Given the description of an element on the screen output the (x, y) to click on. 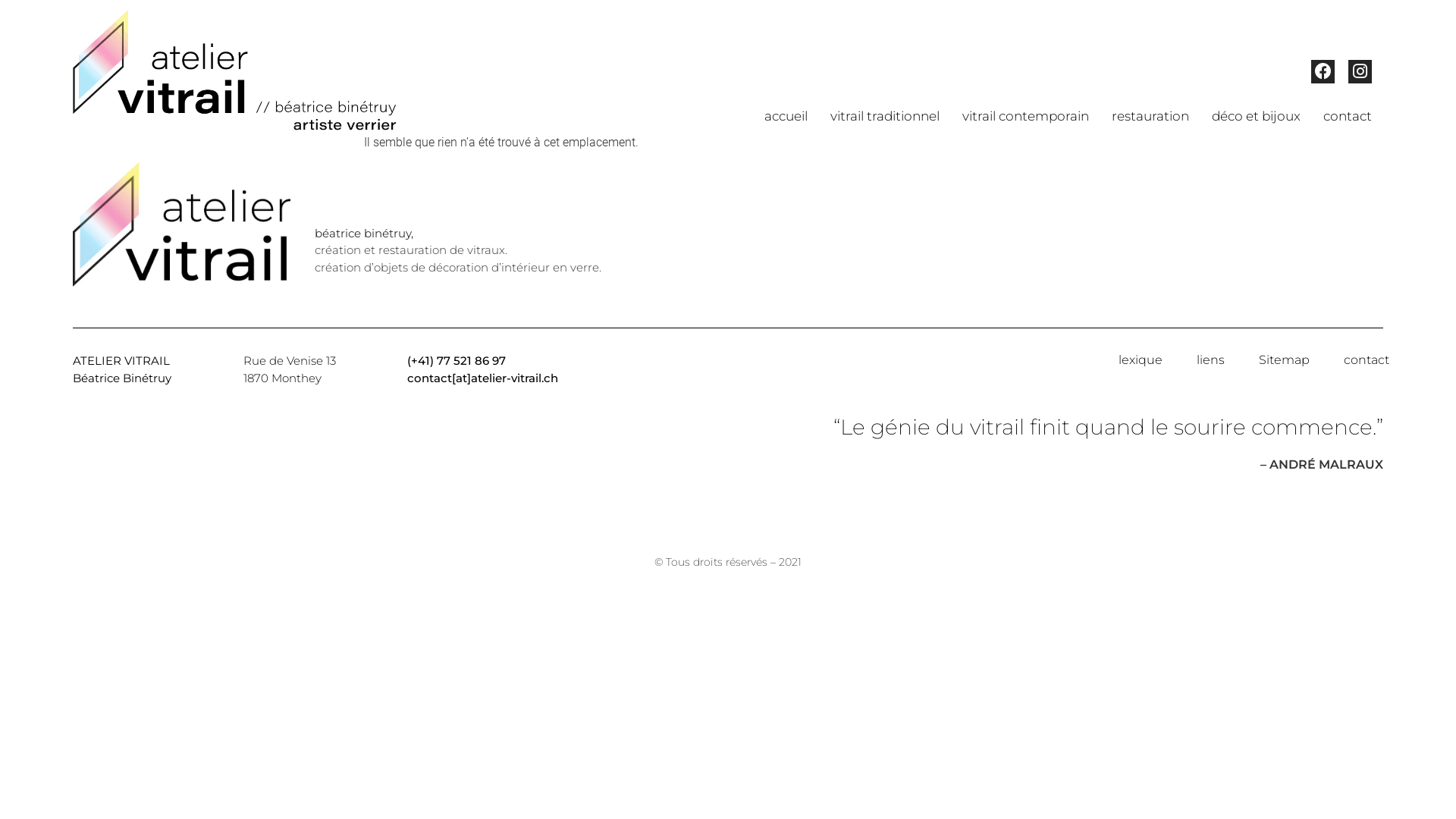
contact[at]atelier-vitrail.ch Element type: text (482, 377)
(+41) 77 521 86 97 Element type: text (456, 360)
contact Element type: text (1347, 115)
contact Element type: text (1366, 359)
lexique Element type: text (1140, 359)
restauration Element type: text (1150, 115)
vitrail contemporain Element type: text (1025, 115)
liens Element type: text (1210, 359)
vitrail traditionnel Element type: text (884, 115)
Sitemap Element type: text (1283, 359)
accueil Element type: text (786, 115)
